Given the description of an element on the screen output the (x, y) to click on. 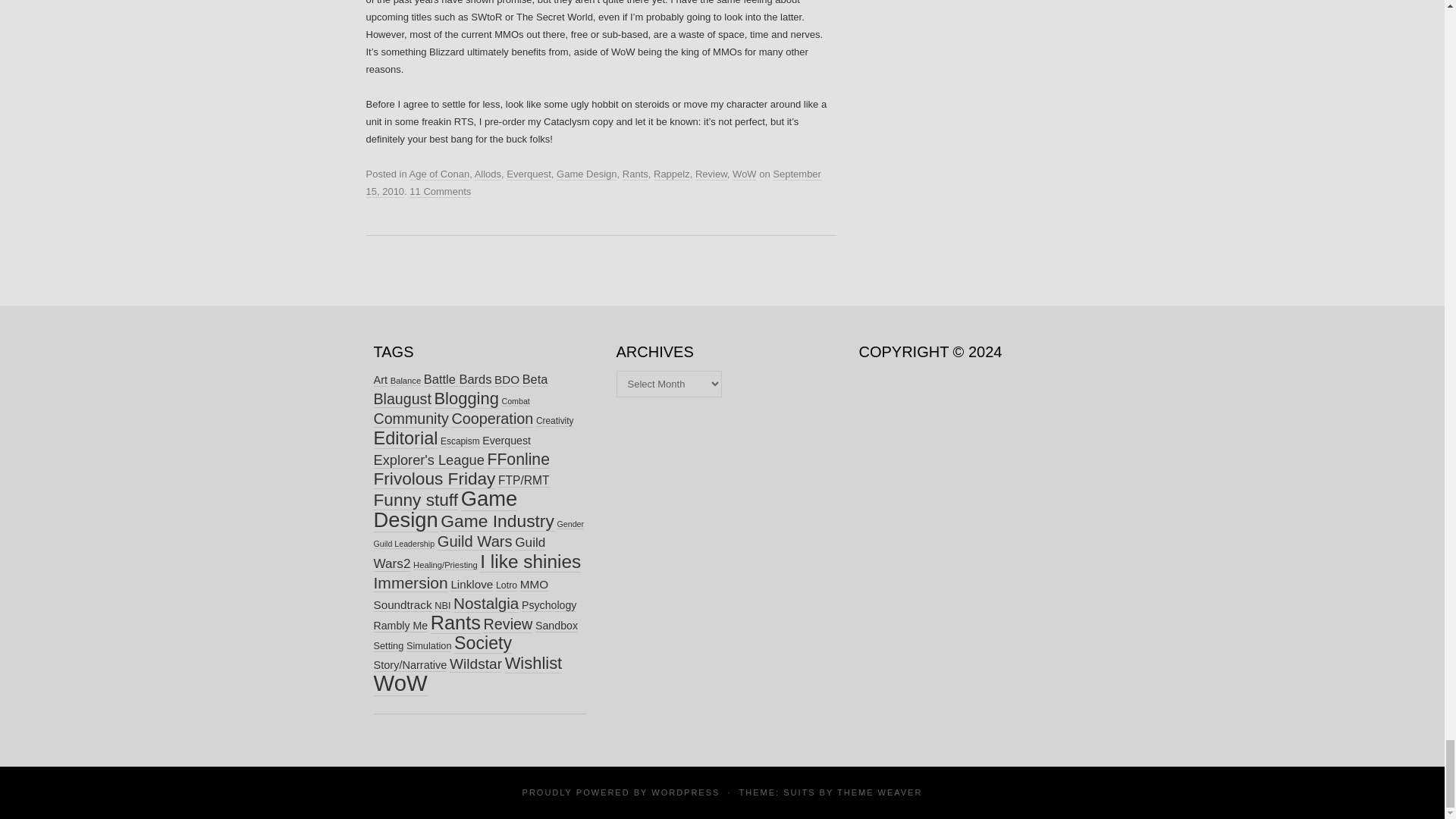
Theme Developer (879, 791)
Semantic Personal Publishing Platform (684, 791)
17:46 (593, 183)
